Given the description of an element on the screen output the (x, y) to click on. 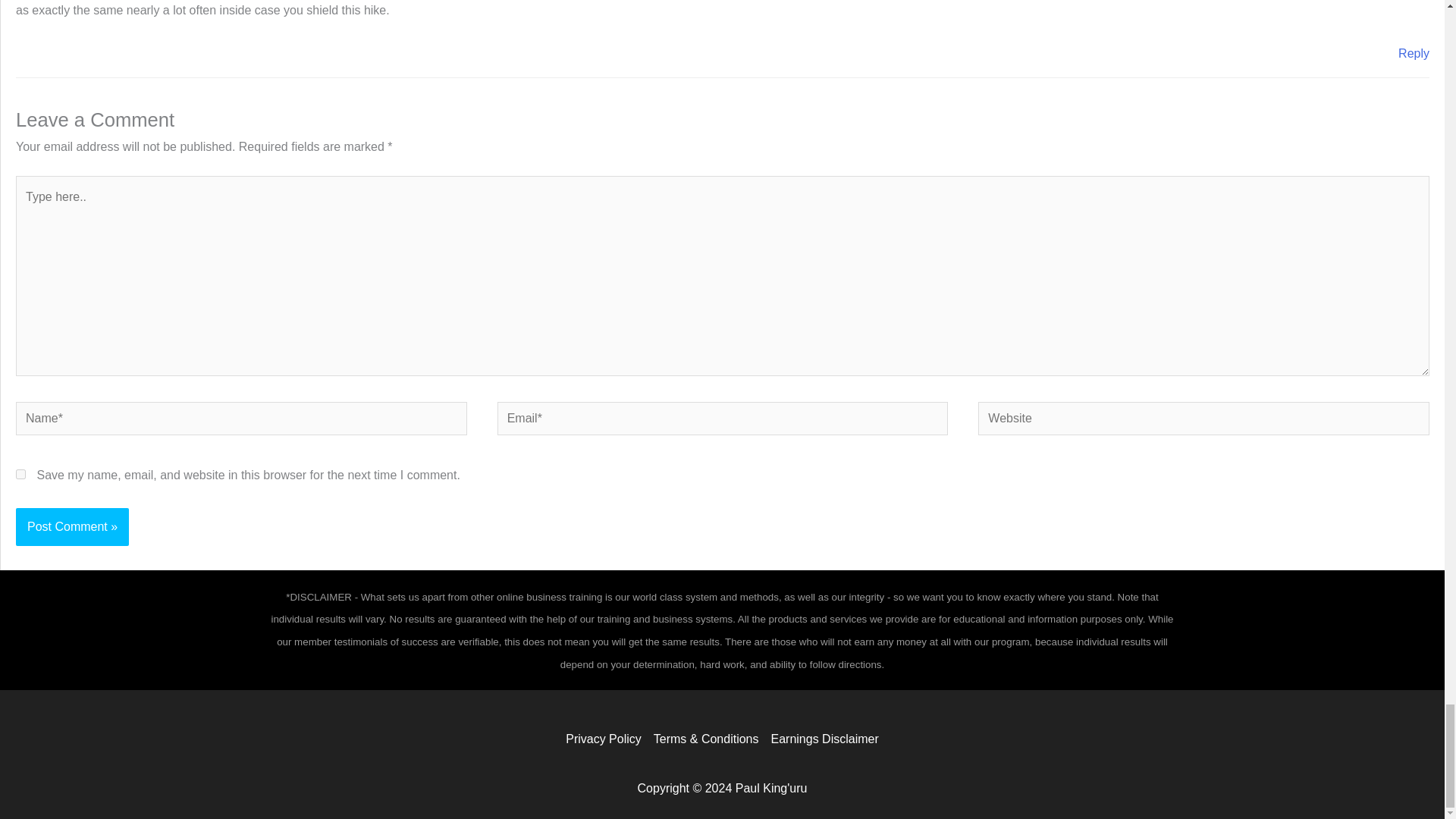
yes (21, 474)
Reply (1413, 52)
Privacy Policy (606, 739)
Earnings Disclaimer (822, 739)
